Given the description of an element on the screen output the (x, y) to click on. 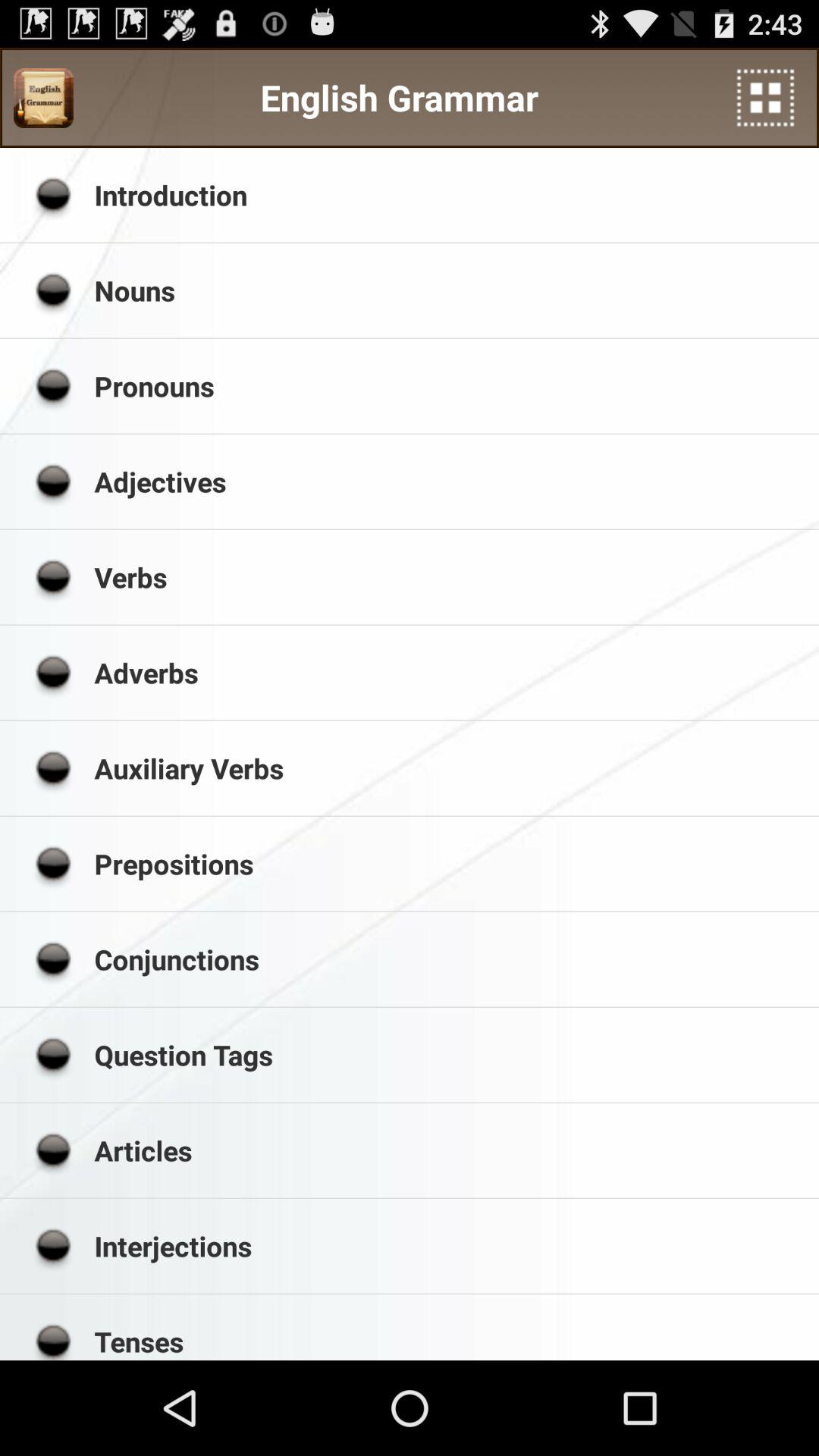
turn on the icon to the left of the english grammar (43, 97)
